Given the description of an element on the screen output the (x, y) to click on. 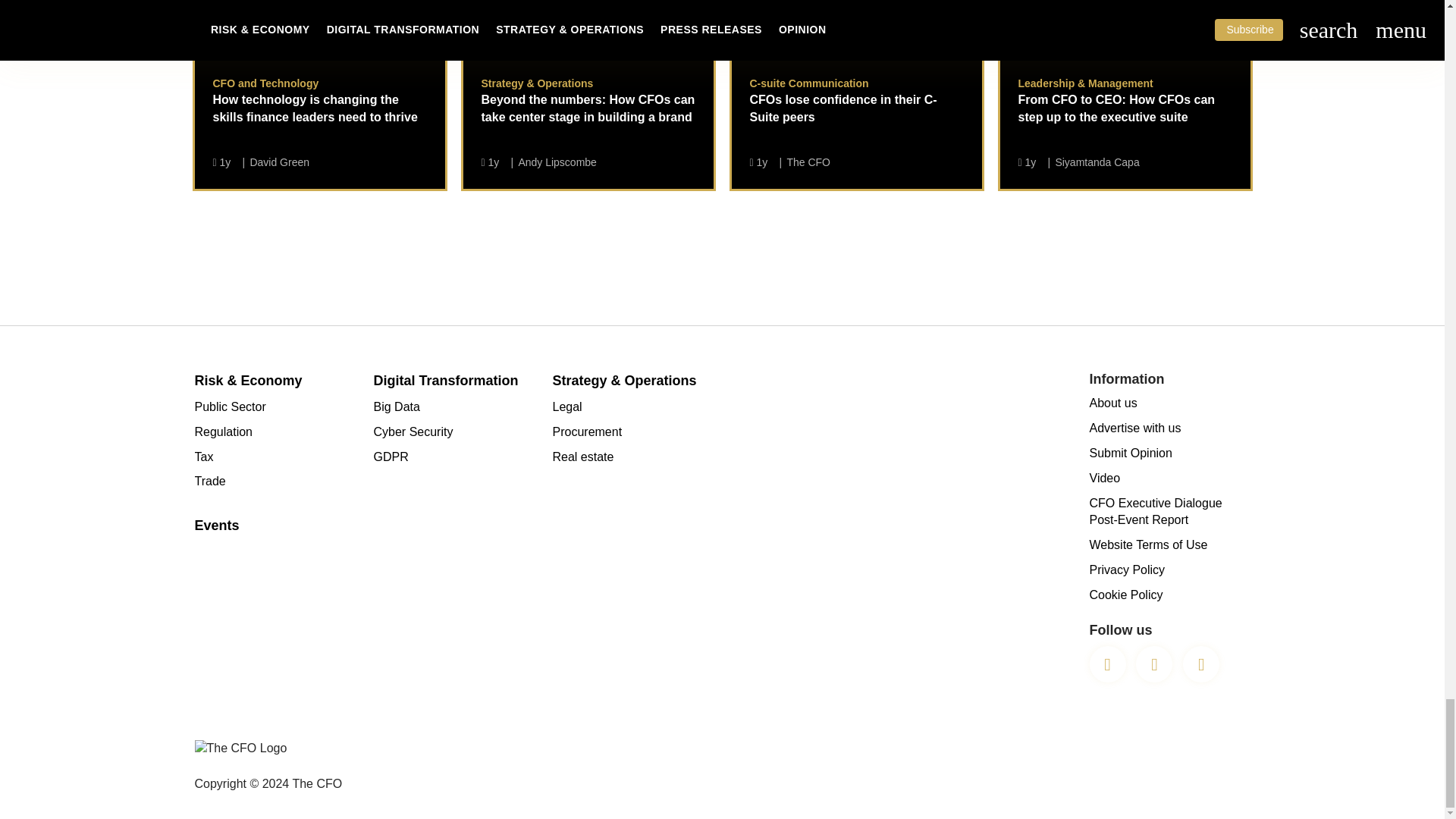
Public Sector (274, 407)
